Given the description of an element on the screen output the (x, y) to click on. 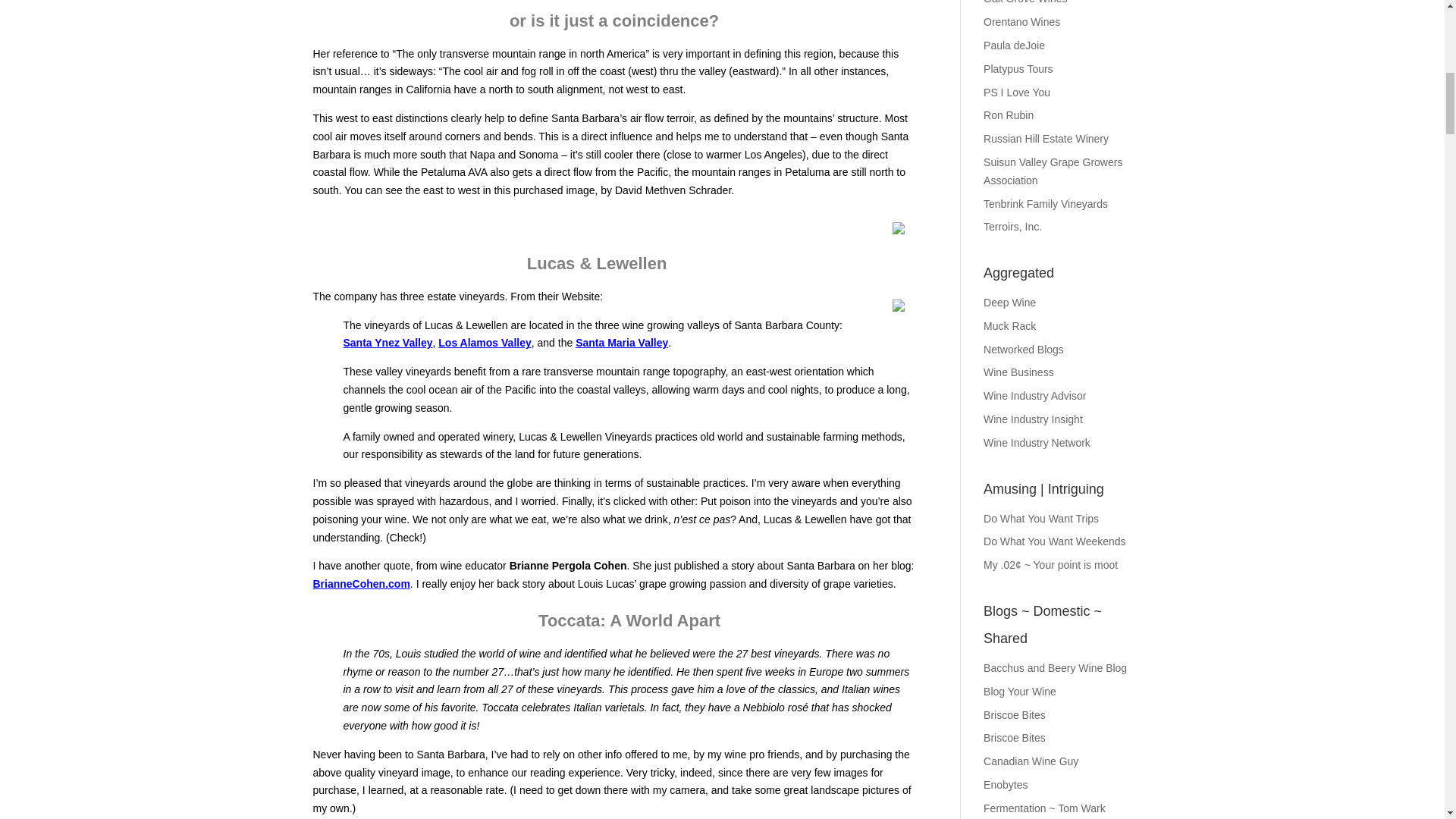
Tour Wine Country in Style (1018, 69)
BrianneCohen.com (361, 583)
Santa Maria Valley (621, 342)
Petite Sirah advocacy group (1016, 92)
Los Alamos Valley (484, 342)
Santa Ynez Valley (387, 342)
Orentano Wines (1021, 21)
